Given the description of an element on the screen output the (x, y) to click on. 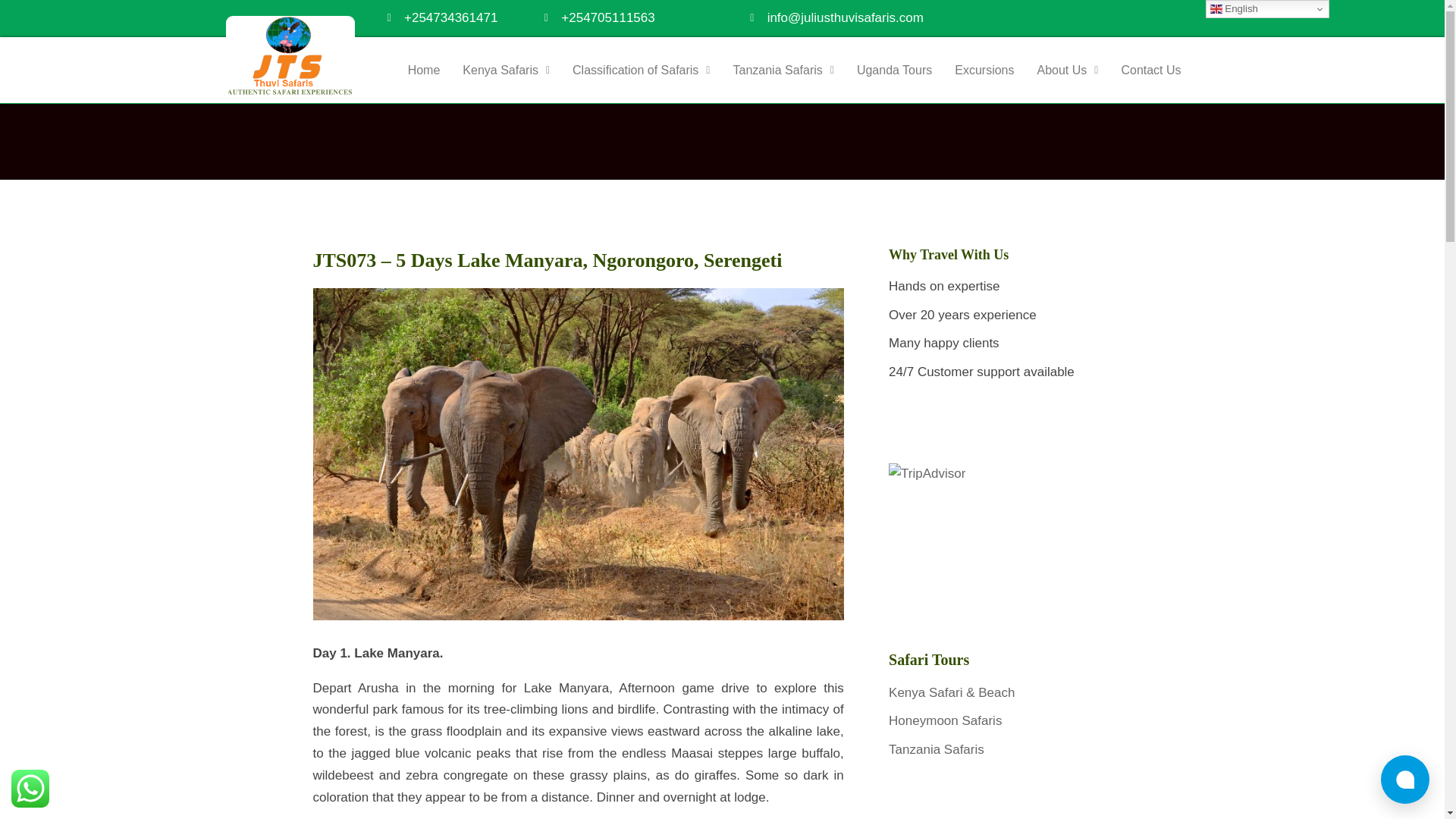
Tanzania Safaris (936, 749)
Open chat window (1404, 779)
About Us (1067, 70)
Tanzania Safaris (782, 70)
Classification of Safaris (640, 70)
Excursions (984, 70)
Uganda Tours (894, 70)
Home (423, 70)
Honeymoon Safaris (944, 720)
Contact Us (1150, 70)
Kenya Safaris (505, 70)
